Given the description of an element on the screen output the (x, y) to click on. 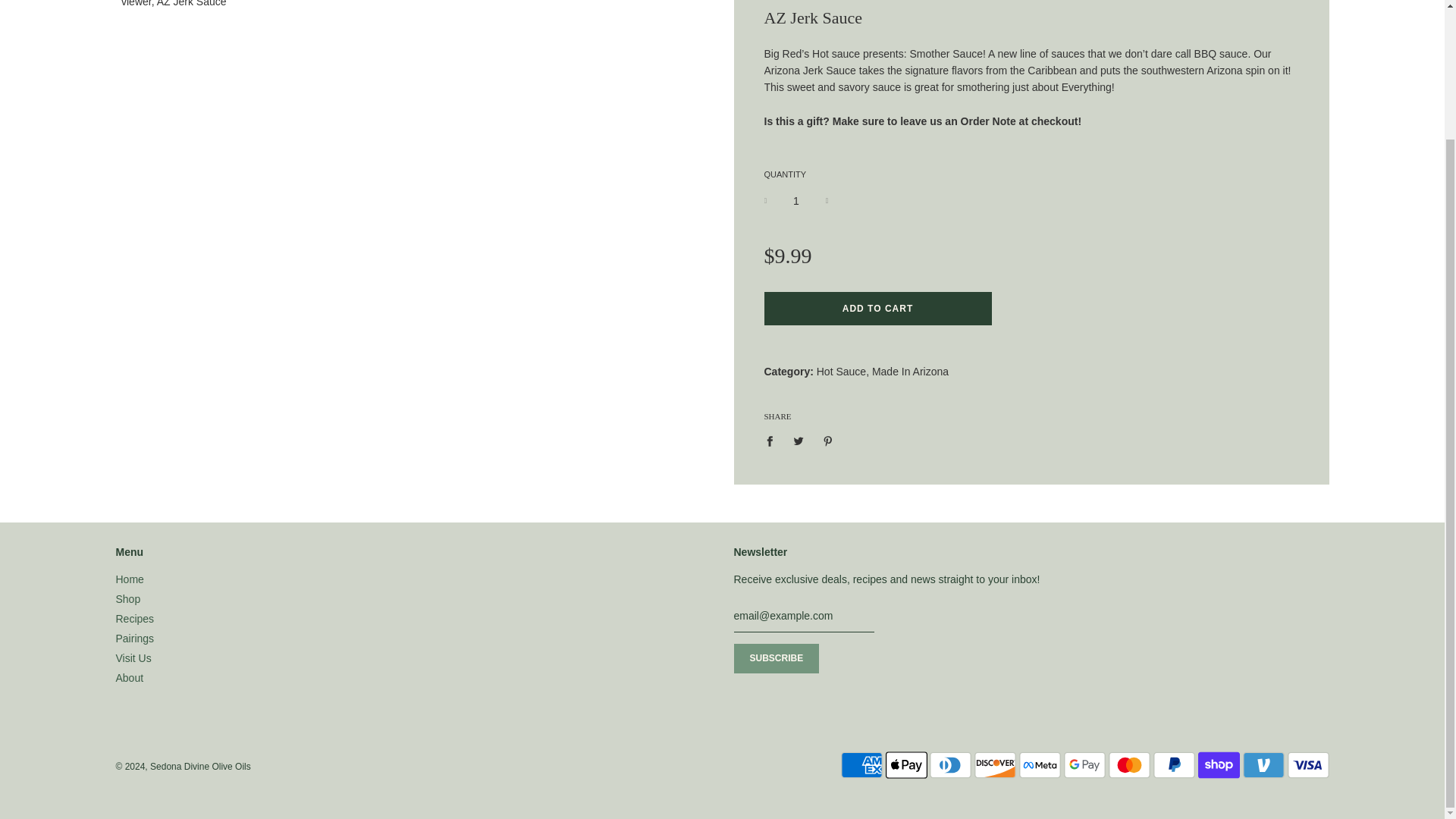
Diners Club (950, 765)
Subscribe (776, 658)
PayPal (1174, 765)
Mastercard (1129, 765)
Visa (1308, 765)
Shop Pay (1219, 765)
Meta Pay (1040, 765)
Google Pay (1084, 765)
1 (796, 200)
Apple Pay (906, 765)
Venmo (1263, 765)
Discover (995, 765)
American Express (861, 765)
